Given the description of an element on the screen output the (x, y) to click on. 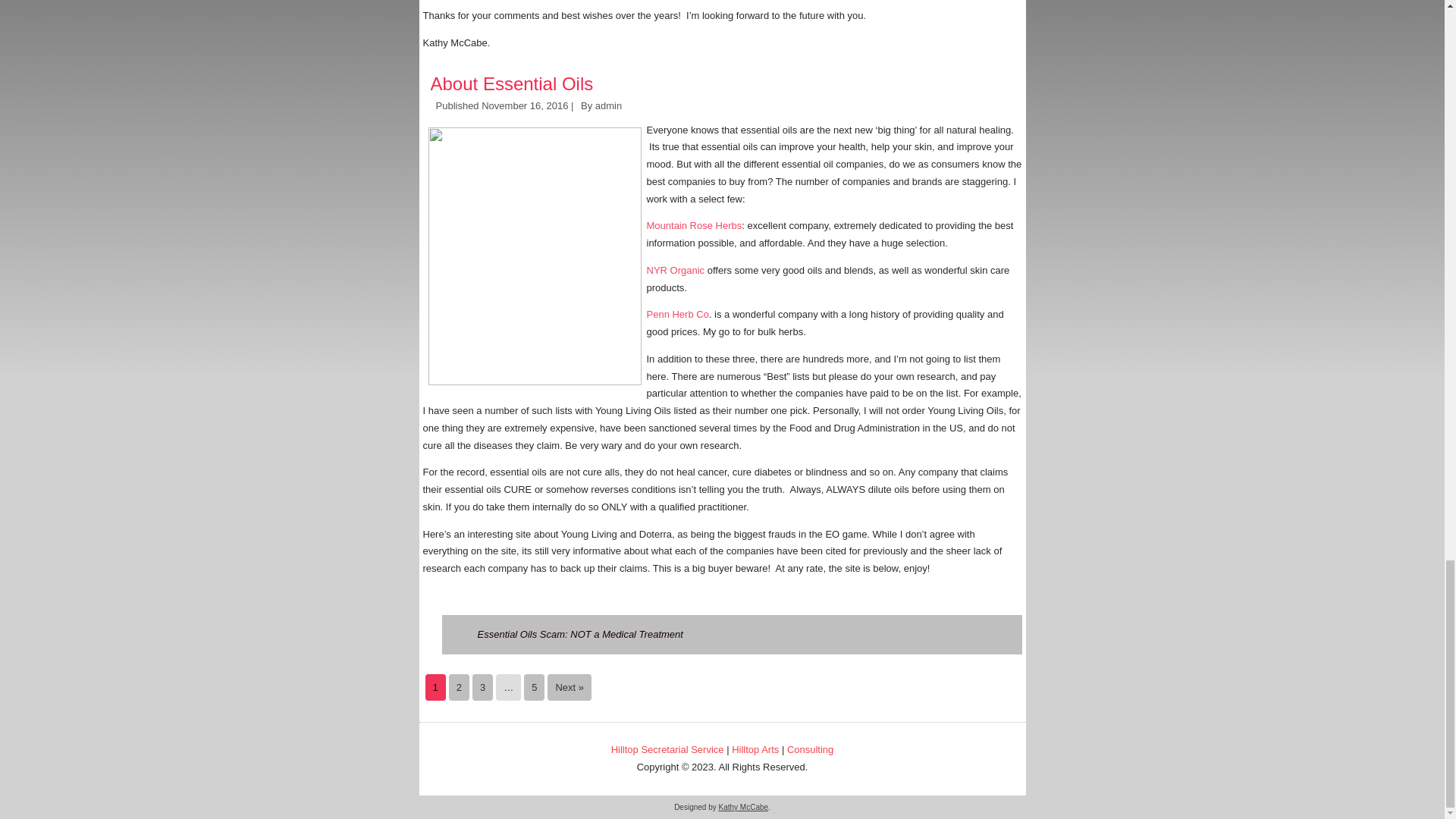
Hilltop Secretarial Service (667, 749)
admin (608, 105)
Kathy McCabe (743, 807)
About Essential Oils (512, 83)
Consulting (809, 749)
Mountain Rose Herbs (693, 225)
Essential Oils Scam: NOT a Medical Treatment (579, 633)
Penn Herb Co (676, 314)
NYR Organic (675, 270)
Hilltop Arts (755, 749)
